Given the description of an element on the screen output the (x, y) to click on. 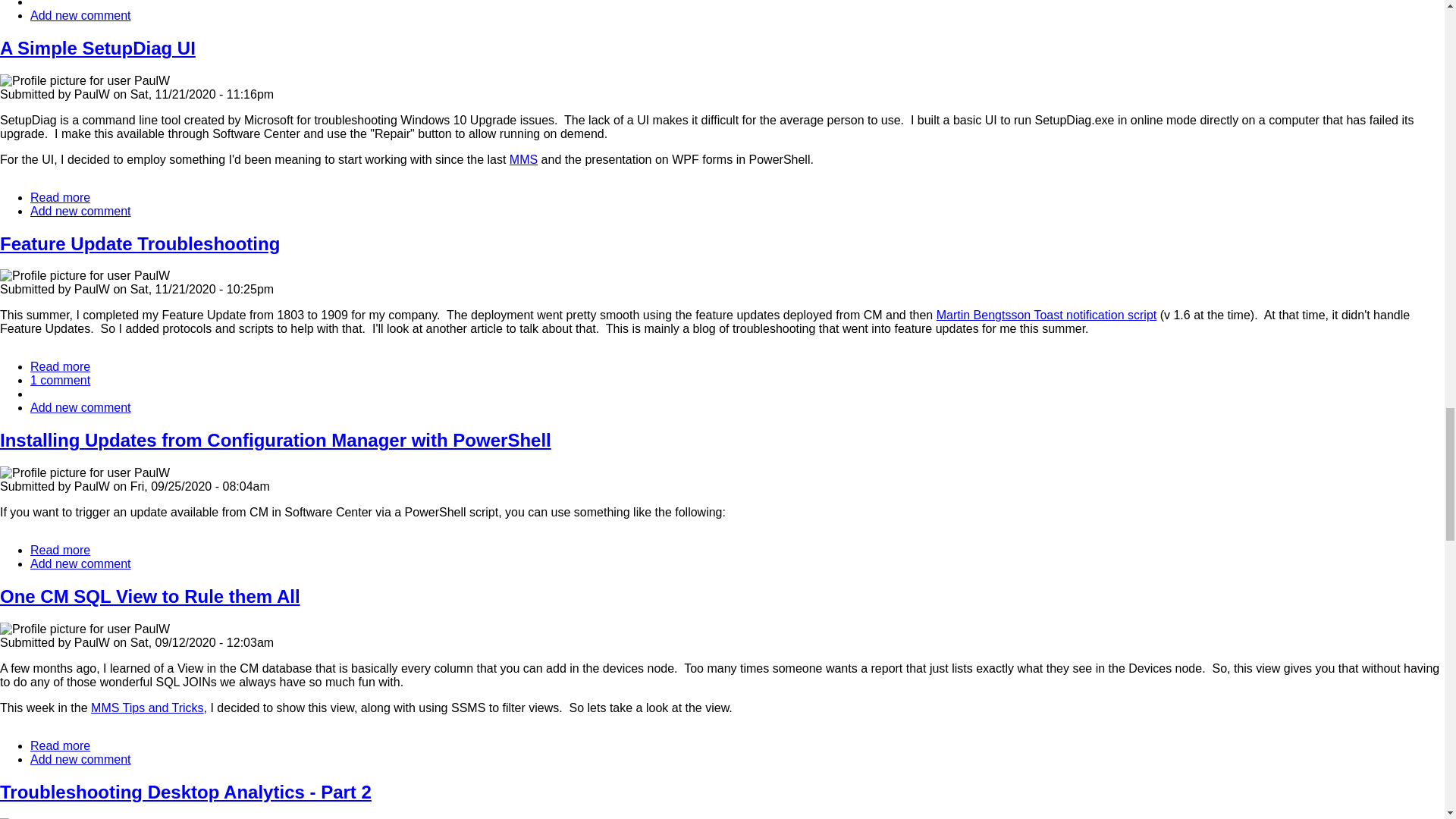
Jump to the first comment. (60, 379)
MMS (523, 159)
Add new comment (60, 745)
Feature Update Troubleshooting (80, 15)
Martin Bengtsson Toast notification script (139, 243)
Share your thoughts and opinions. (1046, 314)
Share your thoughts and opinions. (60, 366)
Add new comment (80, 210)
1 comment (80, 15)
A Simple SetupDiag UI (80, 407)
